Given the description of an element on the screen output the (x, y) to click on. 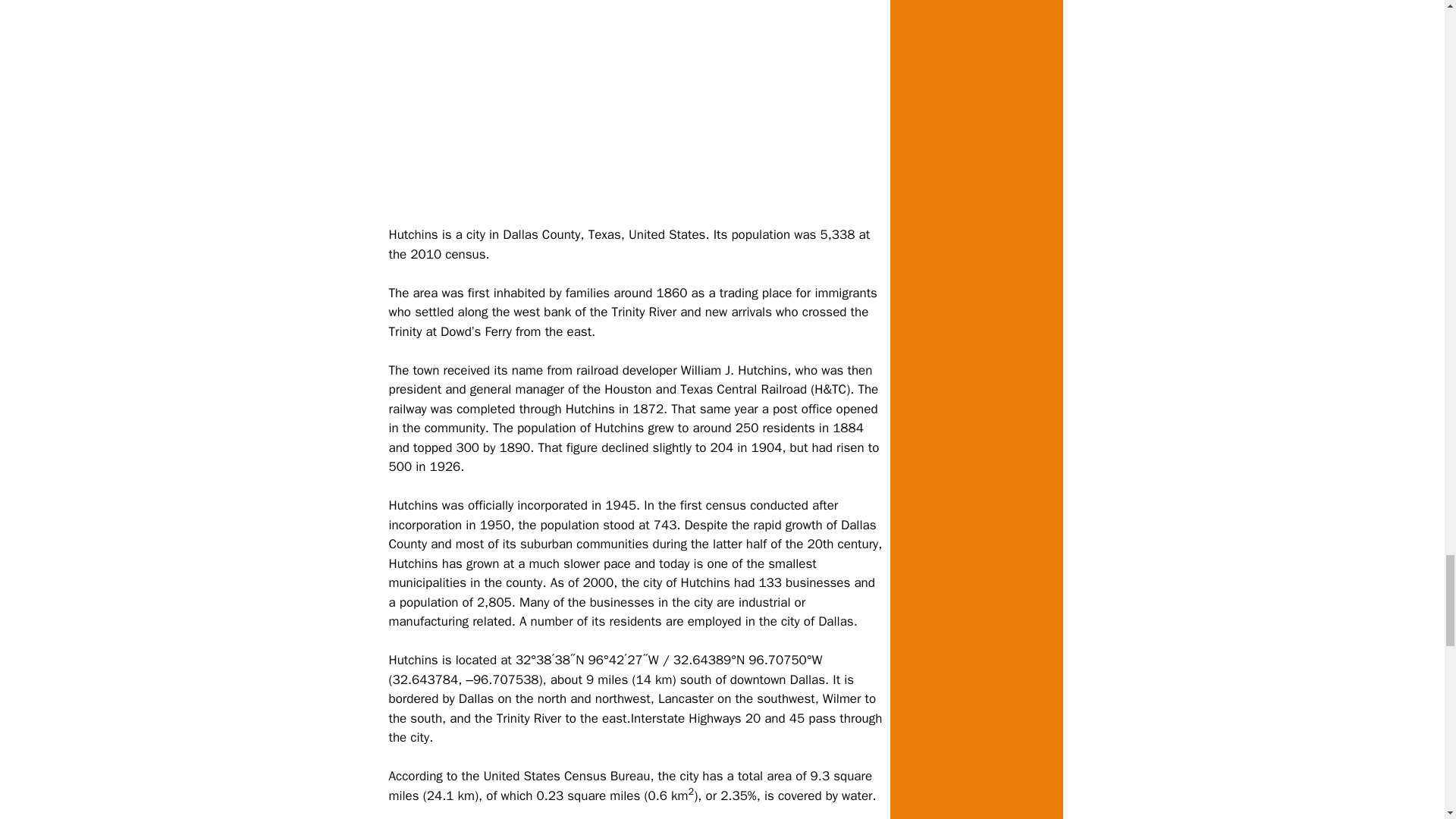
Maps, aerial photos, and other data for this location (747, 659)
Maps, aerial photos, and other data for this location (587, 659)
